Given the description of an element on the screen output the (x, y) to click on. 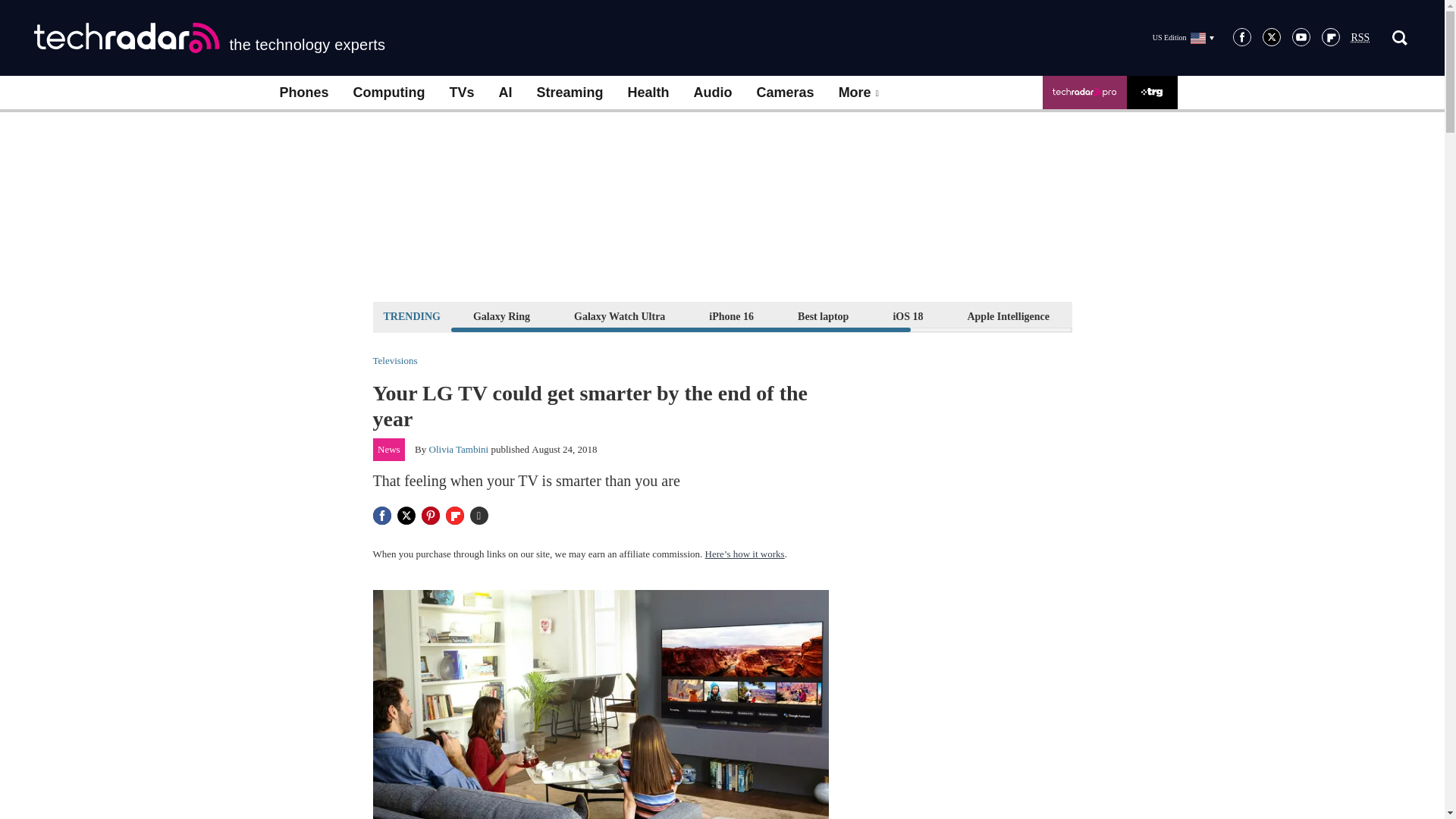
Really Simple Syndication (1360, 37)
the technology experts (209, 38)
Health (648, 92)
Streaming (569, 92)
US Edition (1182, 37)
TVs (461, 92)
Cameras (785, 92)
AI (505, 92)
Audio (712, 92)
Computing (389, 92)
Phones (303, 92)
